Given the description of an element on the screen output the (x, y) to click on. 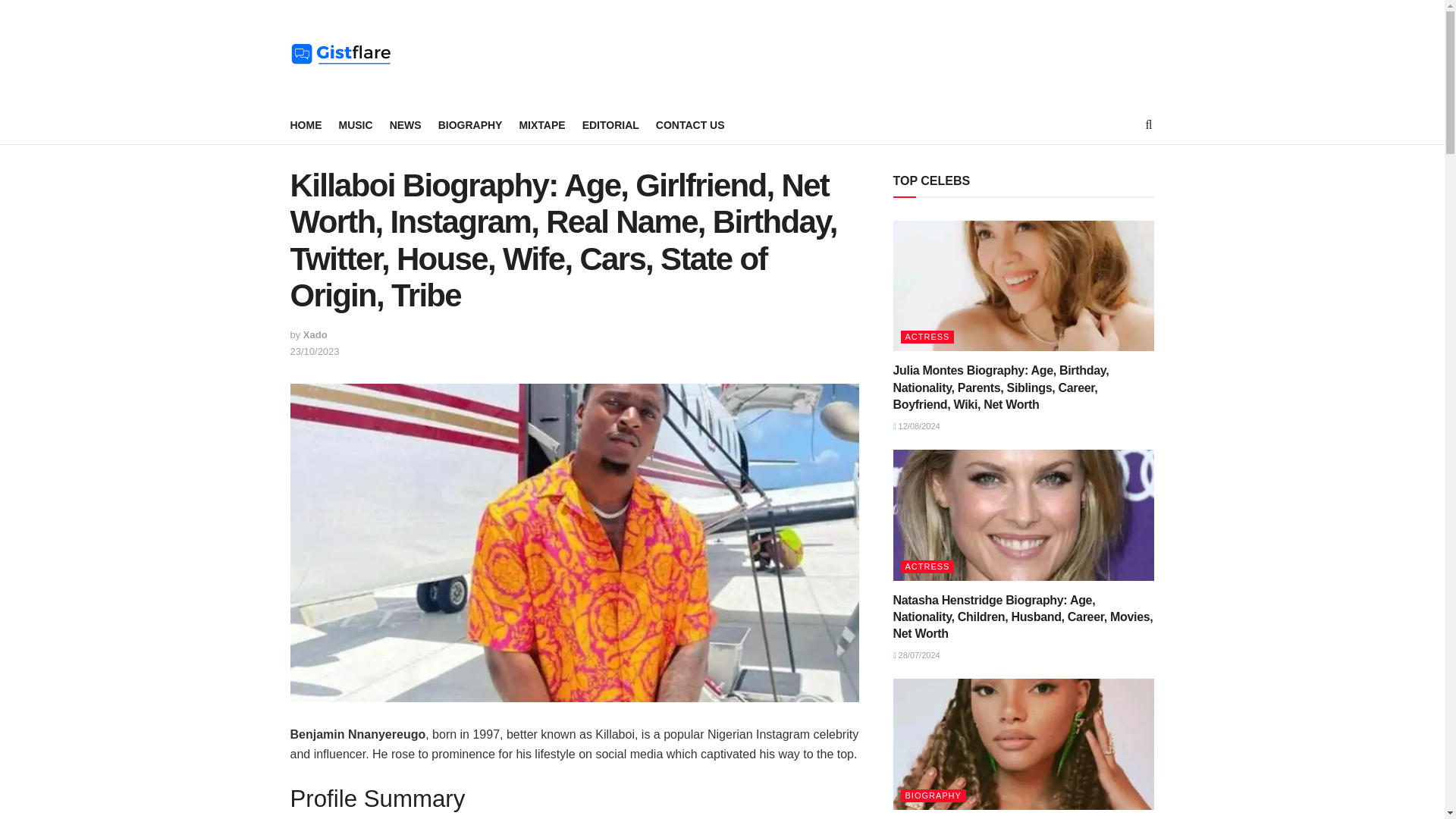
BIOGRAPHY (470, 124)
HOME (305, 124)
EDITORIAL (610, 124)
CONTACT US (690, 124)
MIXTAPE (541, 124)
NEWS (406, 124)
MUSIC (354, 124)
